Given the description of an element on the screen output the (x, y) to click on. 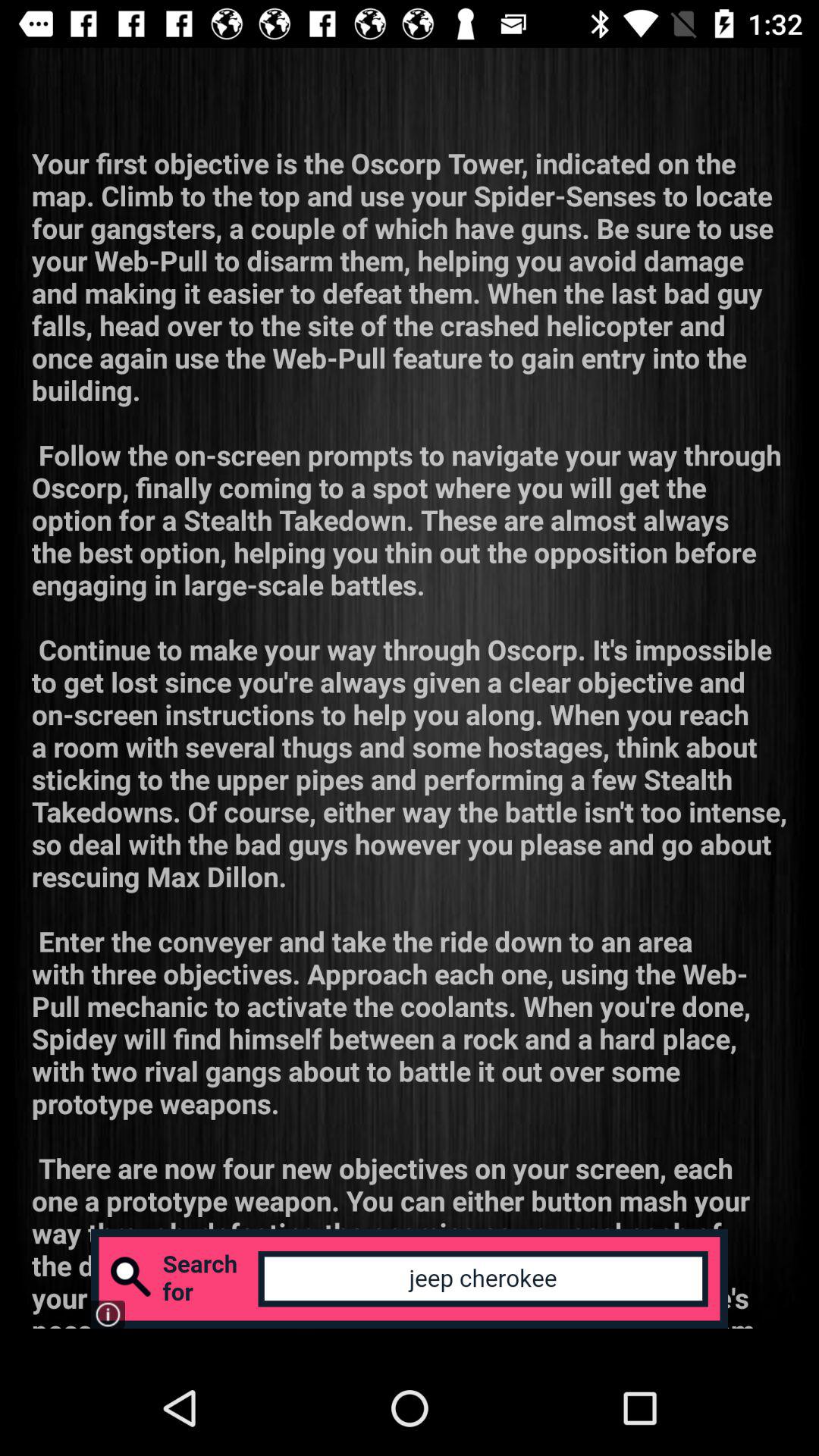
click to search option (409, 1278)
